Given the description of an element on the screen output the (x, y) to click on. 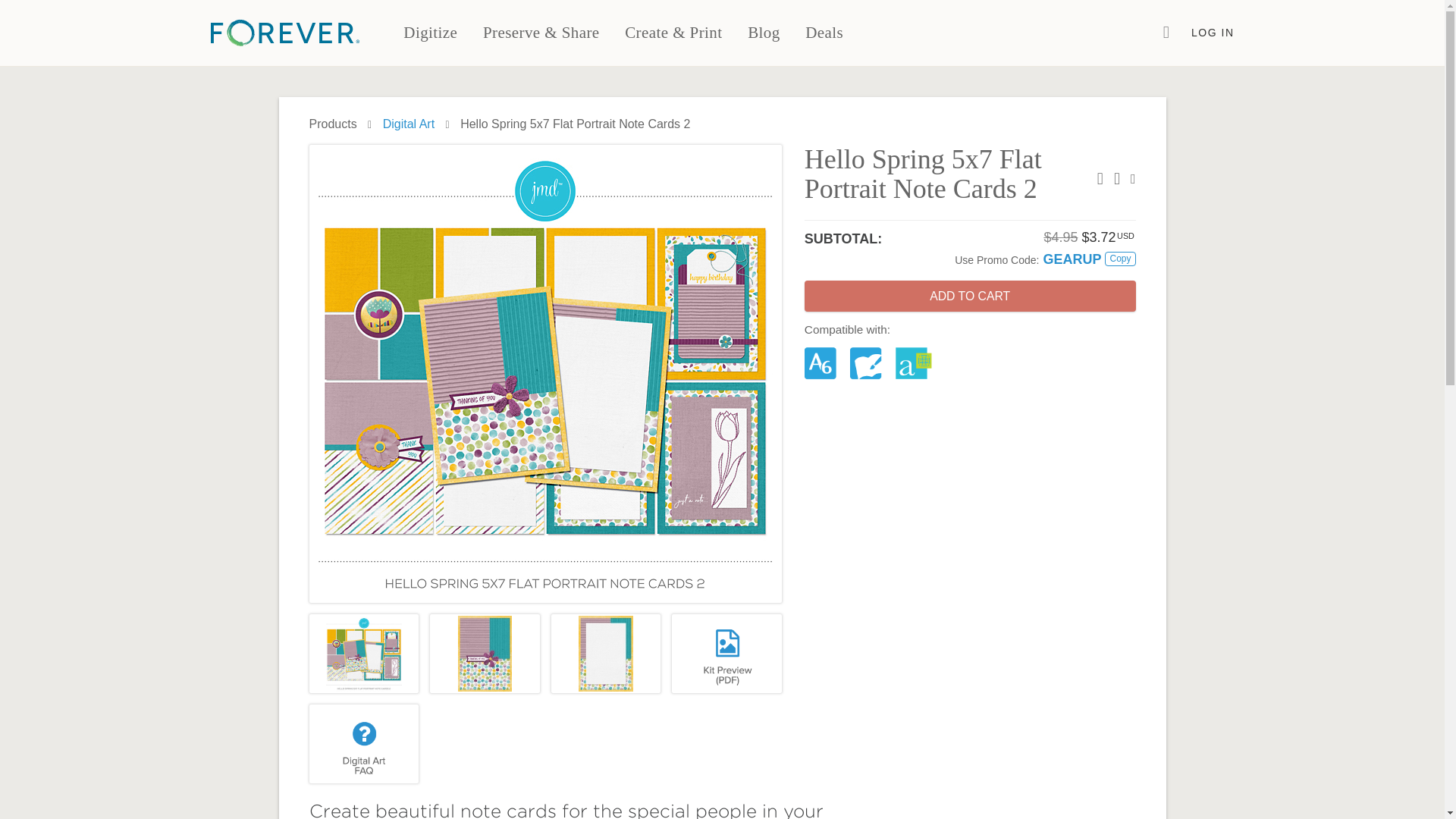
Hello Spring 5x7 Flat Portrait Note Cards 2 (606, 653)
Compatible with Artisan 5 (868, 363)
Hello Spring 5x7 Flat Portrait Note Cards 2 PDF Preview (726, 653)
Digital Scrapbooking Art FAQ (364, 743)
Hello Spring 5x7 Flat Portrait Note Cards 2 (363, 653)
Digitize (430, 33)
Deals (824, 33)
Hello Spring 5x7 Flat Portrait Note Cards 2 (484, 653)
Digital Scrapbooking Art FAQ (363, 743)
Compatible with Artisan 6 (823, 363)
Blog (763, 33)
Hello Spring 5x7 Flat Portrait Note Cards 2 PDF Preview (726, 653)
Digital Art (407, 123)
Compatible with Artisan 4 (913, 363)
